Given the description of an element on the screen output the (x, y) to click on. 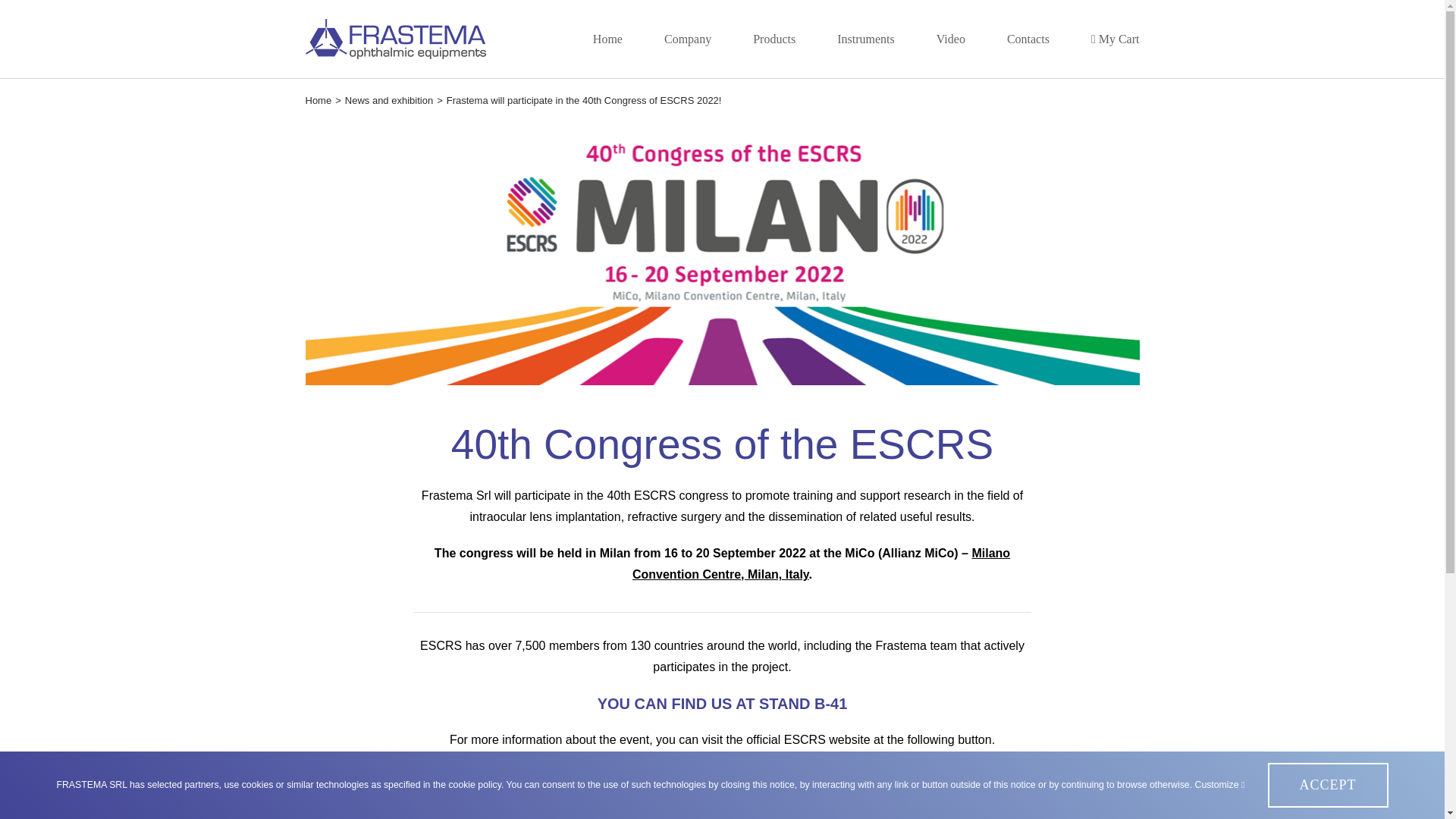
Home (607, 38)
Products (773, 38)
 My Cart (1115, 38)
Video (950, 38)
Contacts (1028, 38)
Instruments (866, 38)
Company (687, 38)
